Given the description of an element on the screen output the (x, y) to click on. 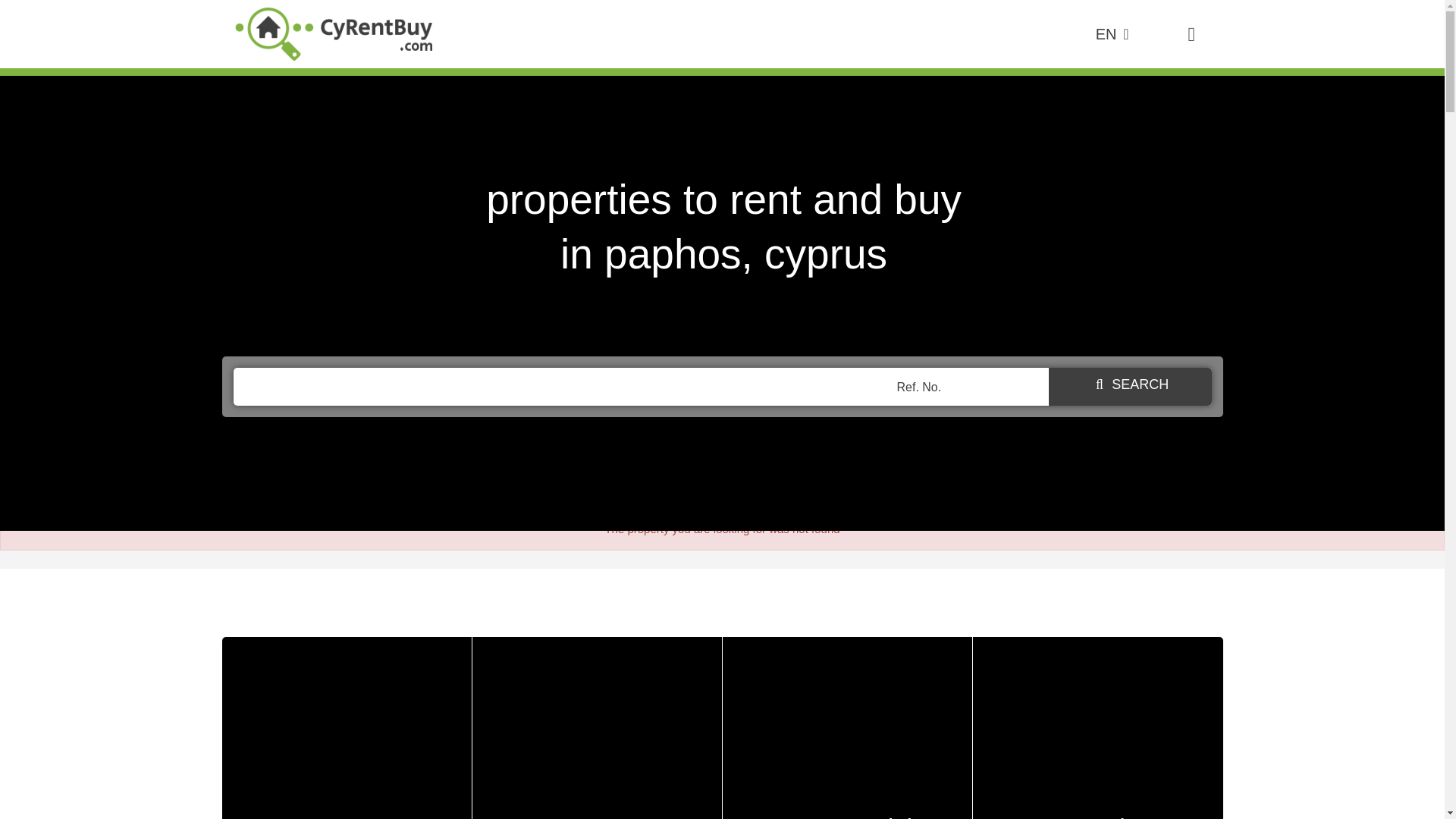
EN (596, 728)
SEARCH (847, 728)
